Given the description of an element on the screen output the (x, y) to click on. 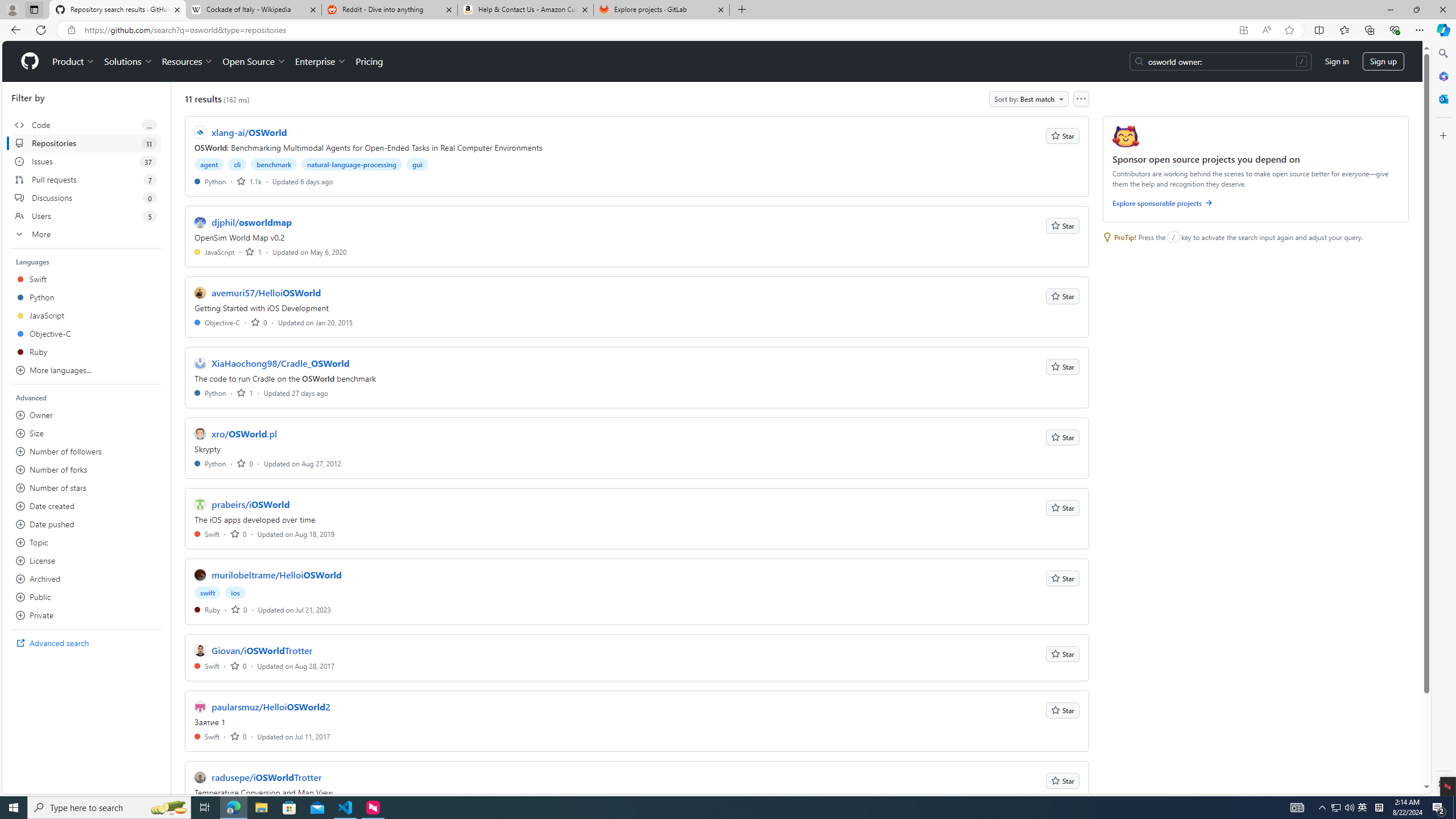
natural-language-processing (352, 164)
Solutions (128, 60)
Package icon (1125, 136)
xlang-ai/OSWorld (248, 132)
benchmark (273, 164)
Cockade of Italy - Wikipedia (253, 9)
